Given the description of an element on the screen output the (x, y) to click on. 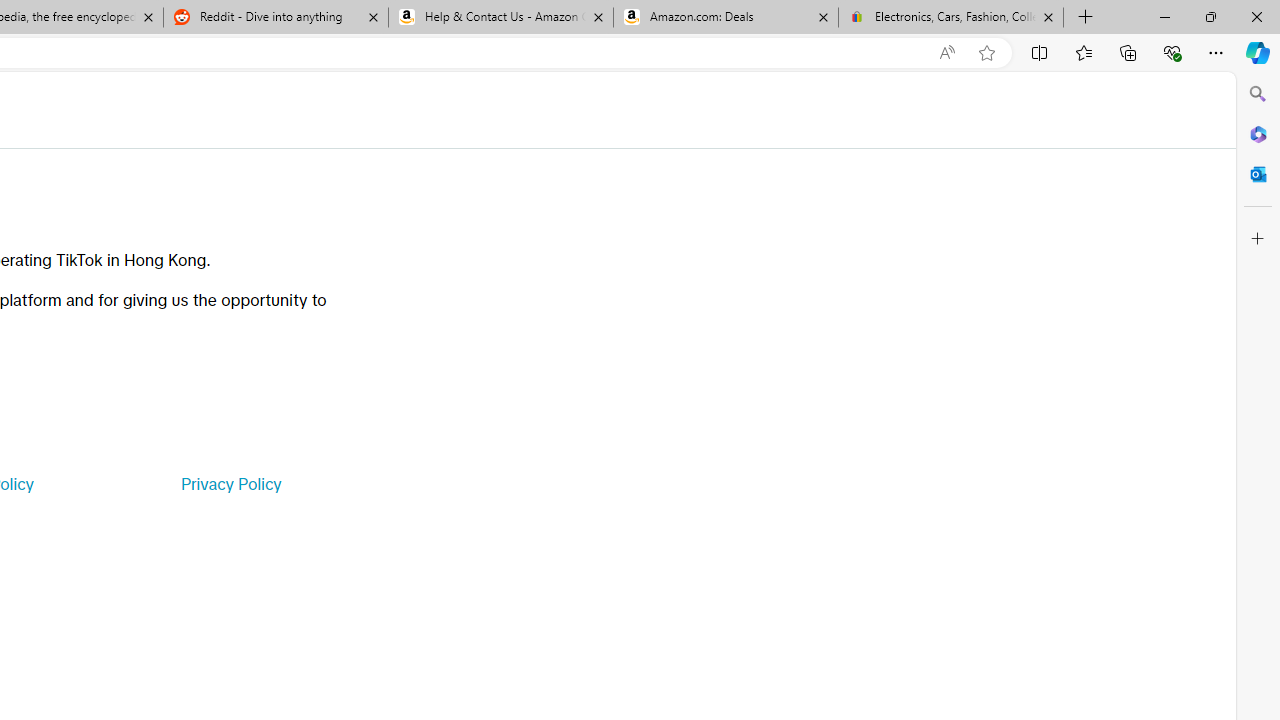
Privacy Policy (230, 484)
